Given the description of an element on the screen output the (x, y) to click on. 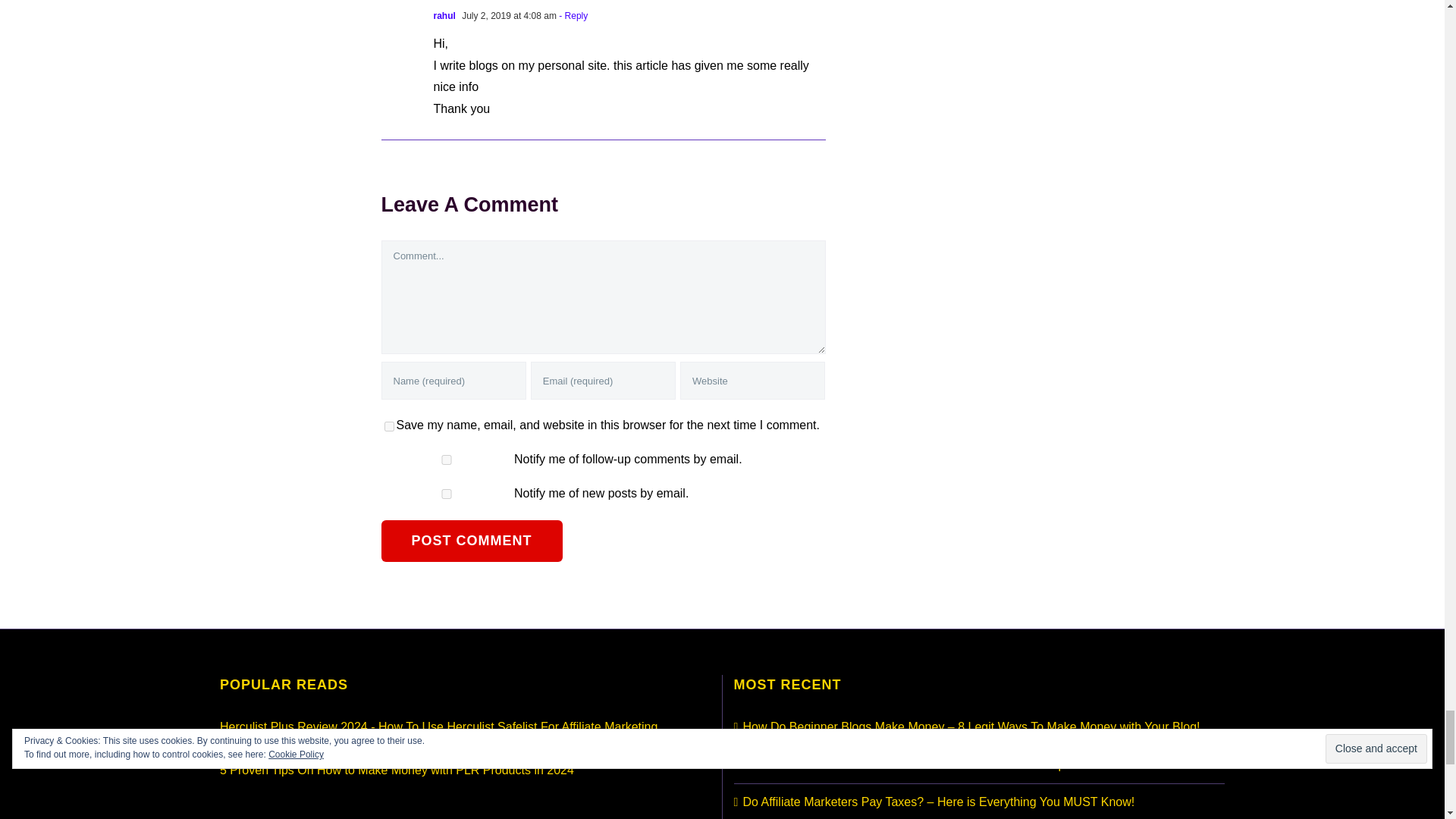
Post Comment (471, 540)
subscribe (446, 493)
yes (388, 426)
subscribe (446, 460)
